Given the description of an element on the screen output the (x, y) to click on. 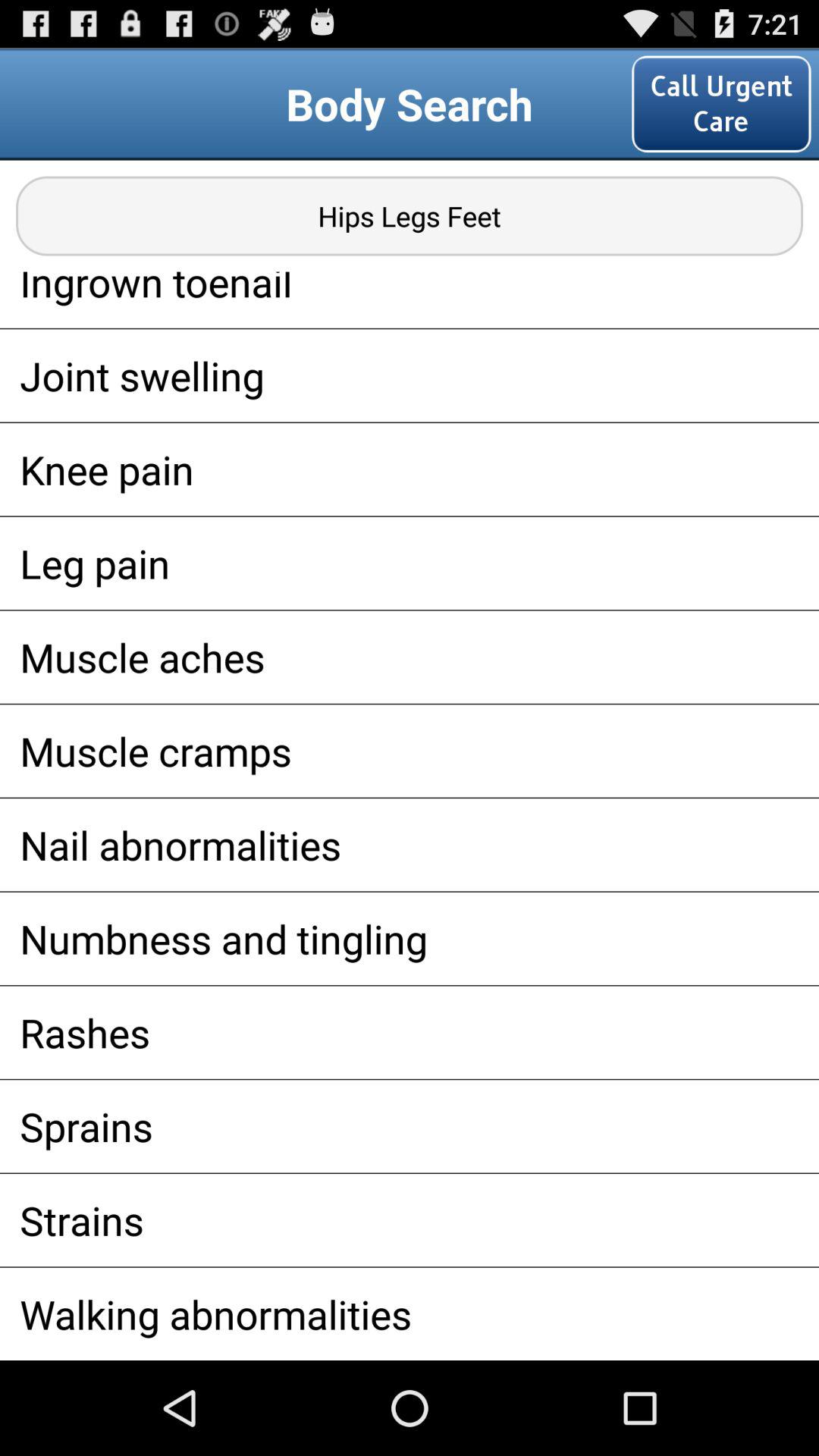
turn on the item below the muscle aches (409, 750)
